Given the description of an element on the screen output the (x, y) to click on. 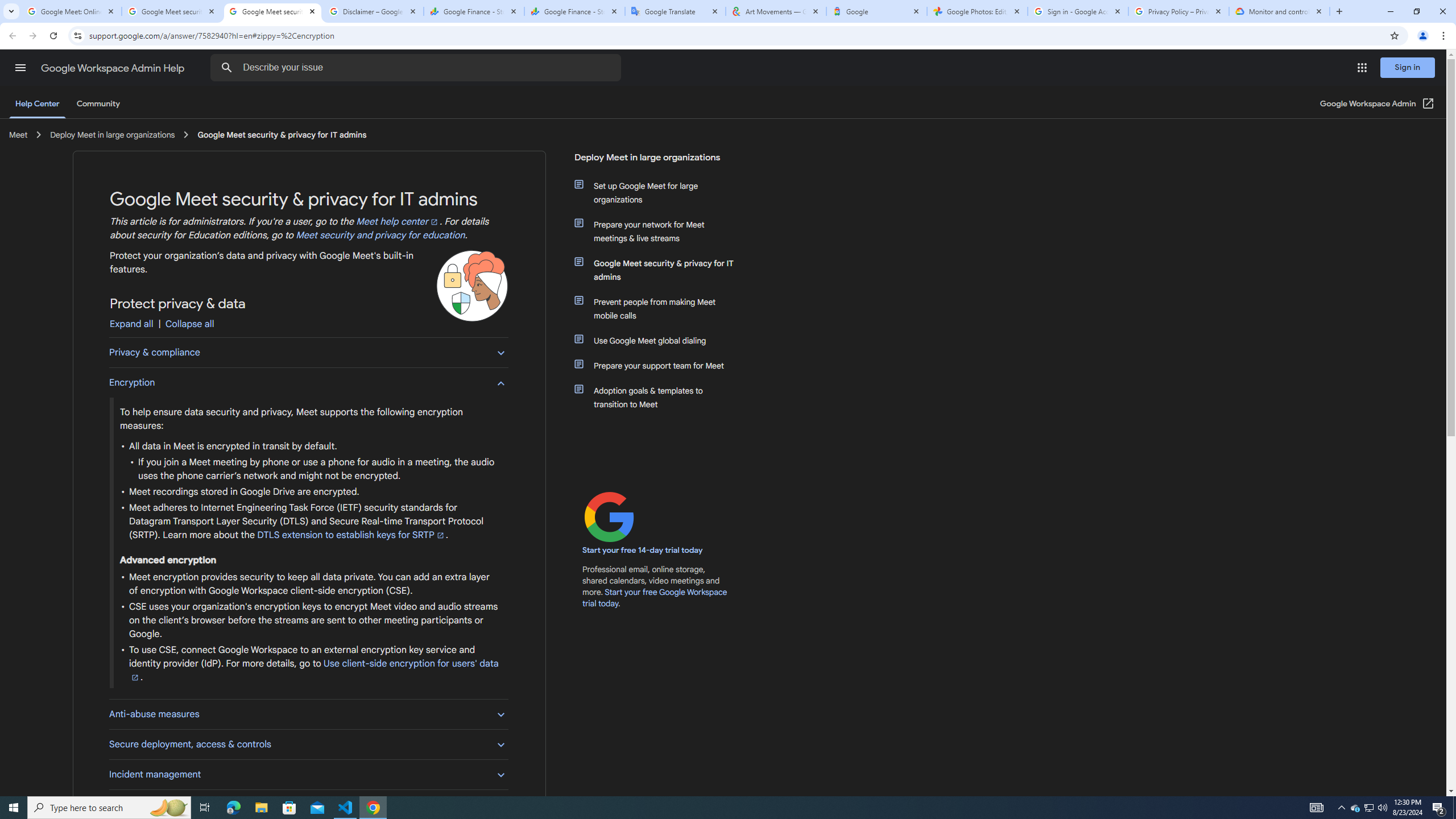
Community (97, 103)
Incident management (308, 774)
Use Google Meet global dialing (661, 340)
Anti-abuse measures (308, 713)
Google (876, 11)
Prepare your network for Meet meetings & live streams (661, 231)
